Given the description of an element on the screen output the (x, y) to click on. 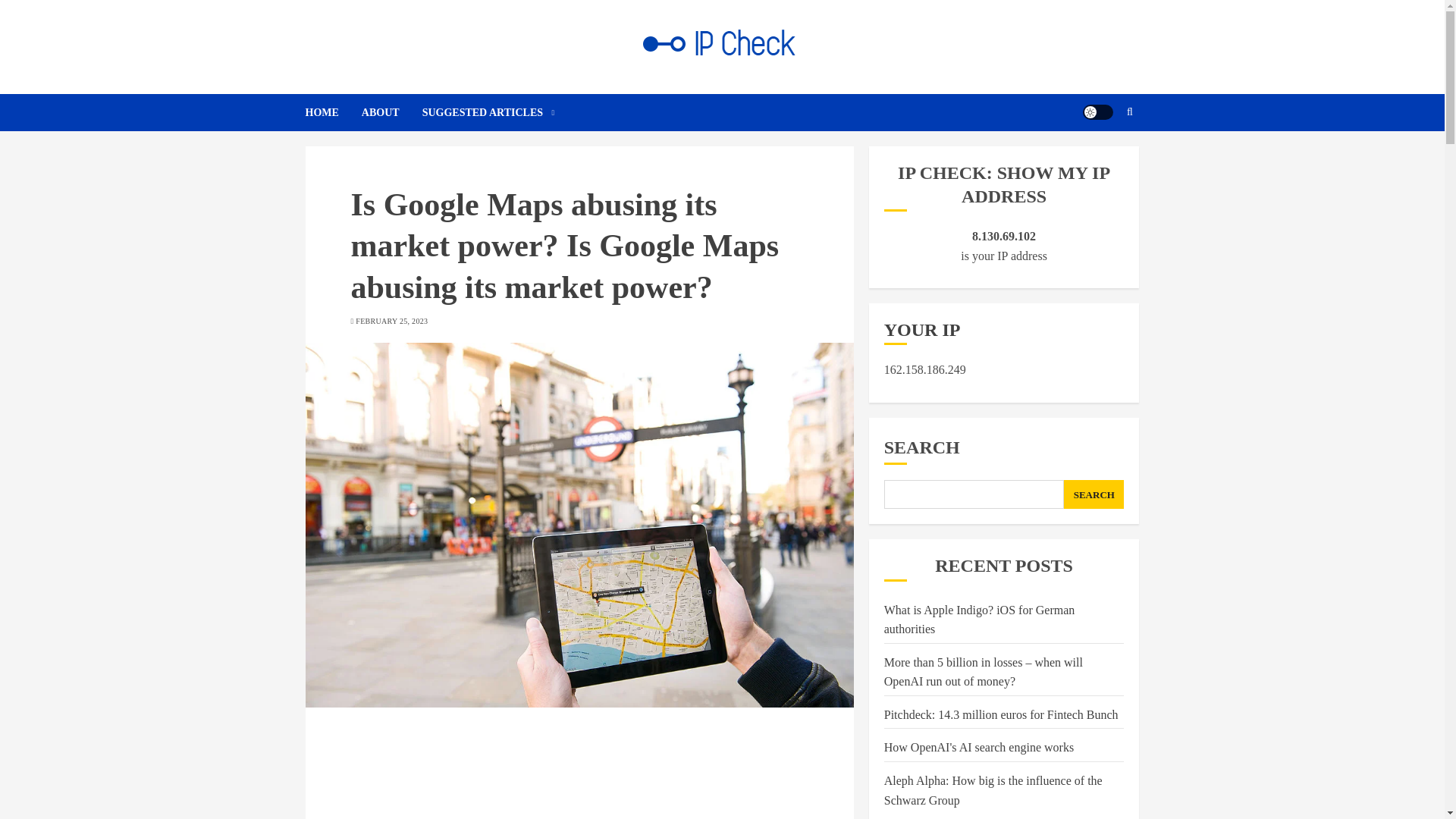
SUGGESTED ARTICLES (488, 112)
ABOUT (391, 112)
Advertisement (578, 773)
HOME (332, 112)
